Given the description of an element on the screen output the (x, y) to click on. 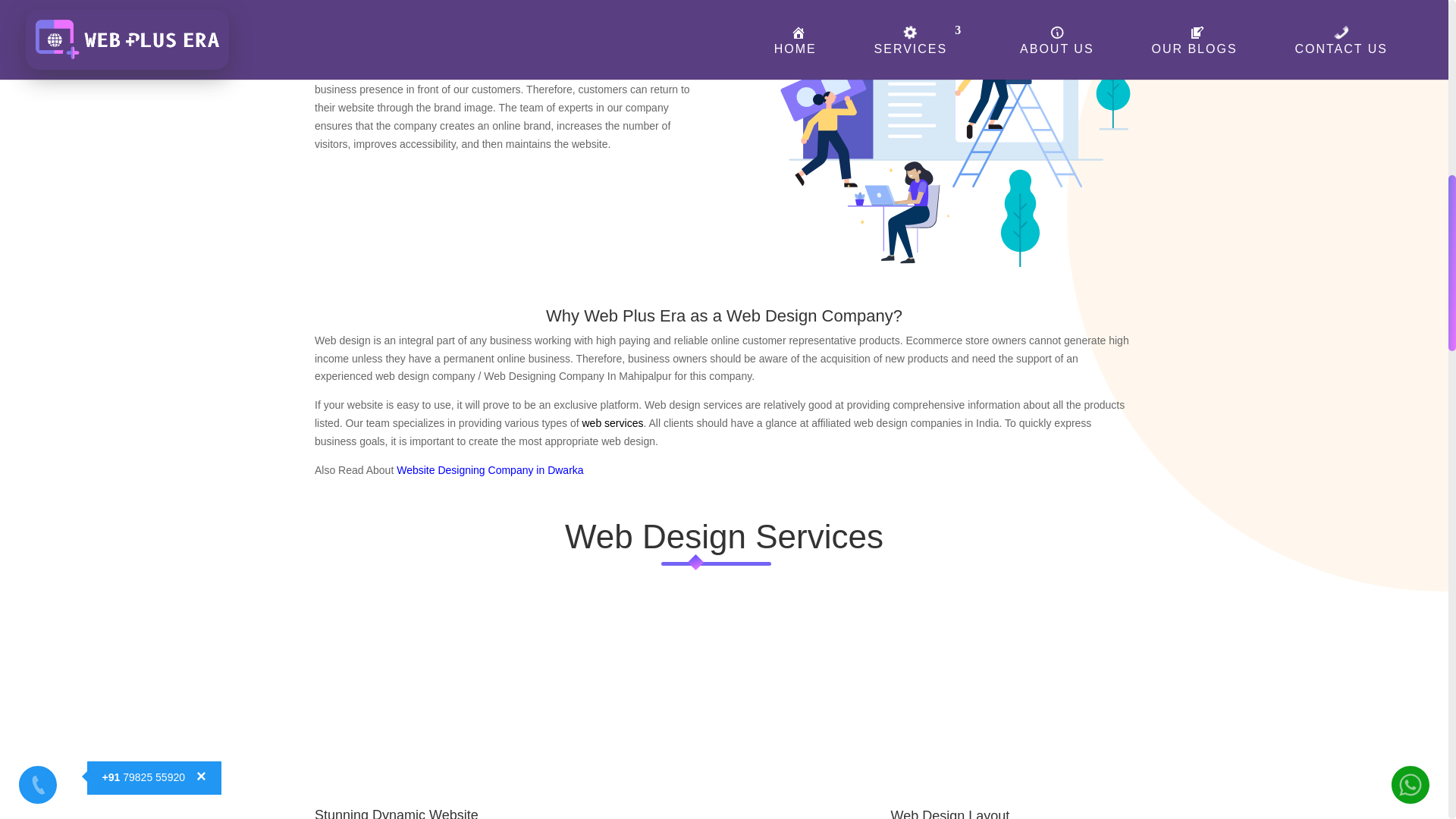
Website Designing Company in Dwarka (489, 469)
web services (612, 422)
responsive-website-design (940, 133)
Website Designing Company in Dwarka (489, 469)
